Given the description of an element on the screen output the (x, y) to click on. 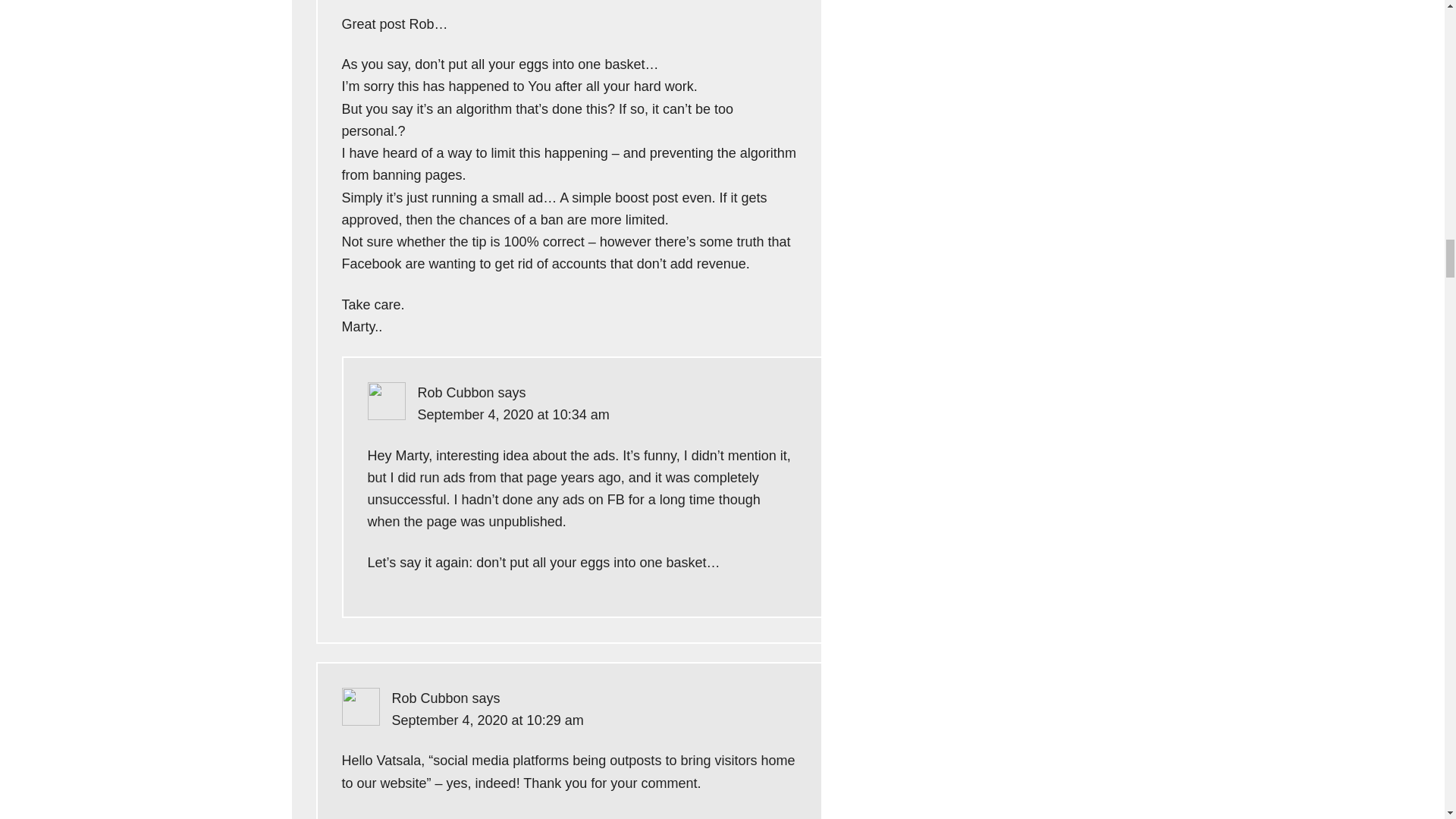
September 4, 2020 at 10:29 am (487, 720)
Rob Cubbon (454, 392)
September 4, 2020 at 10:34 am (512, 414)
Rob Cubbon (429, 698)
